Given the description of an element on the screen output the (x, y) to click on. 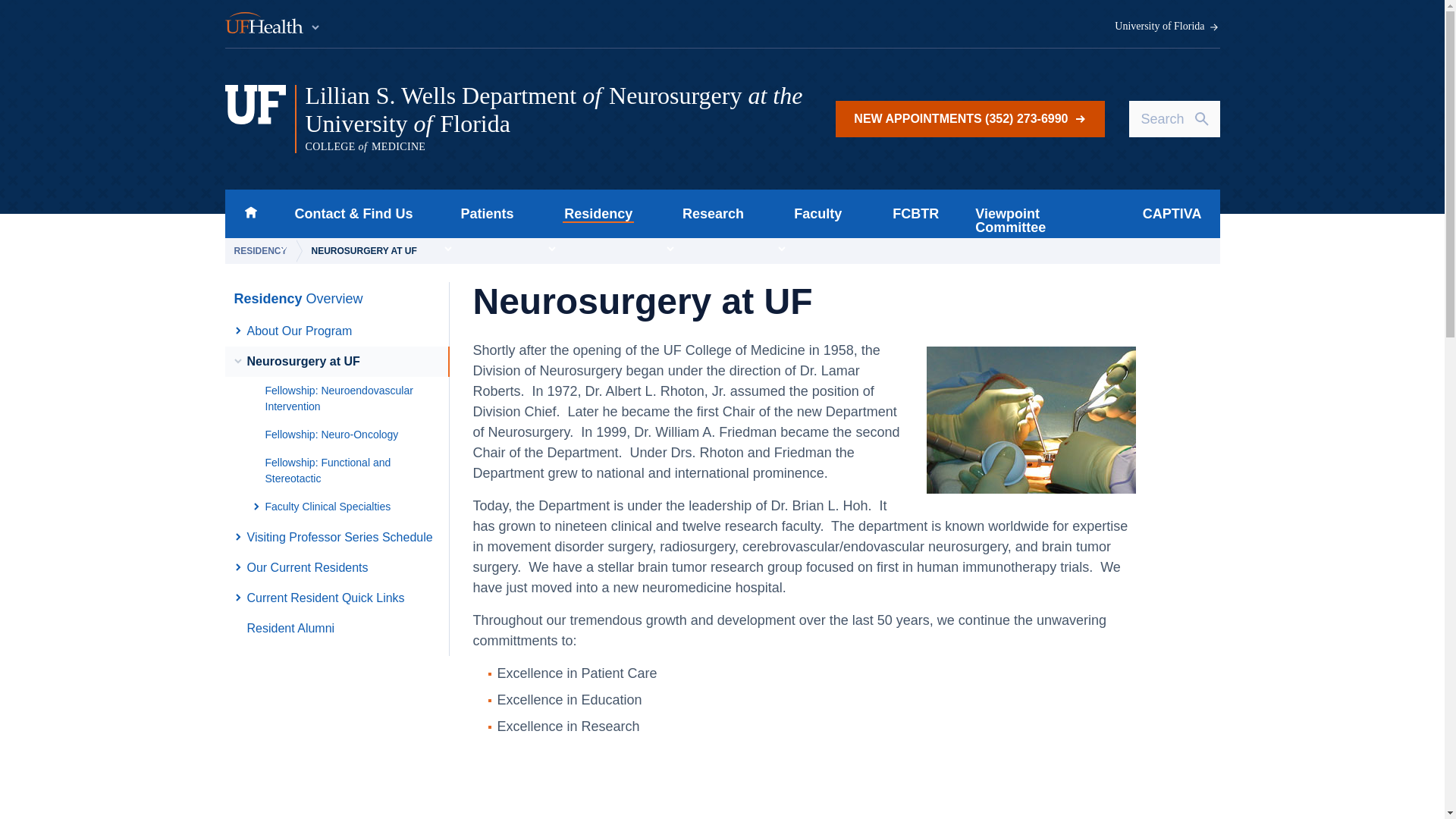
UF Health (272, 24)
Patients (482, 213)
Home (250, 213)
University of Florida (1167, 26)
